Given the description of an element on the screen output the (x, y) to click on. 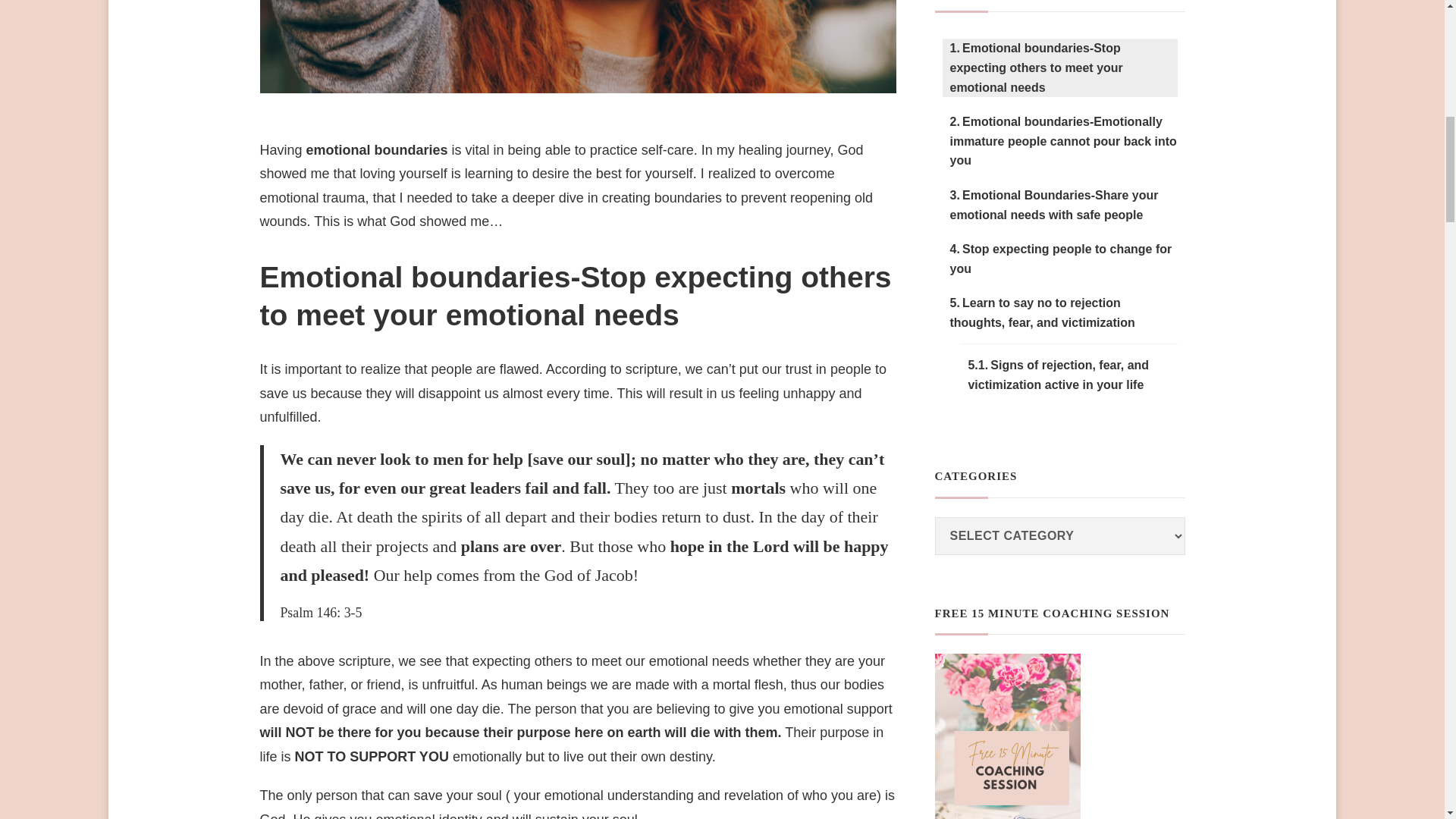
Stop expecting people to change for you (1059, 258)
